Given the description of an element on the screen output the (x, y) to click on. 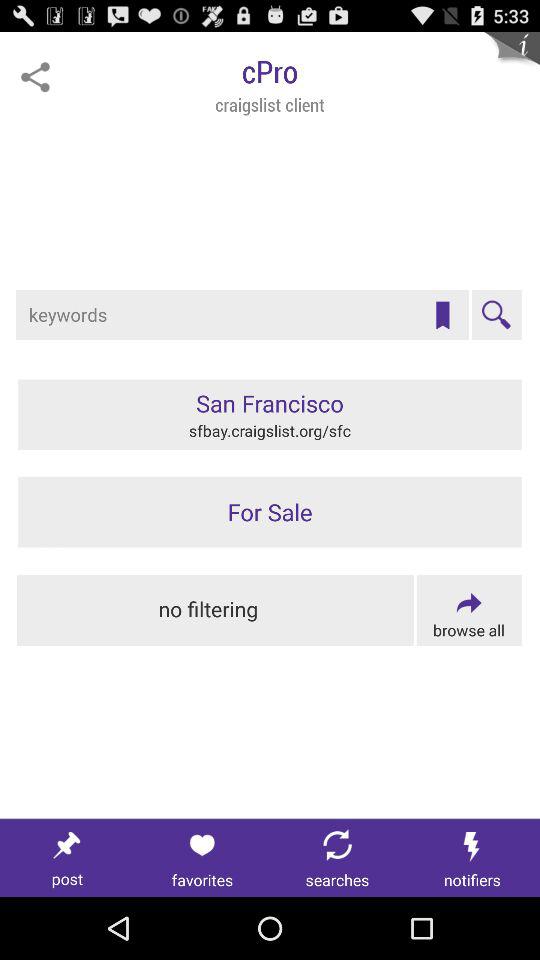
click the icon below the cpro item (442, 315)
